Given the description of an element on the screen output the (x, y) to click on. 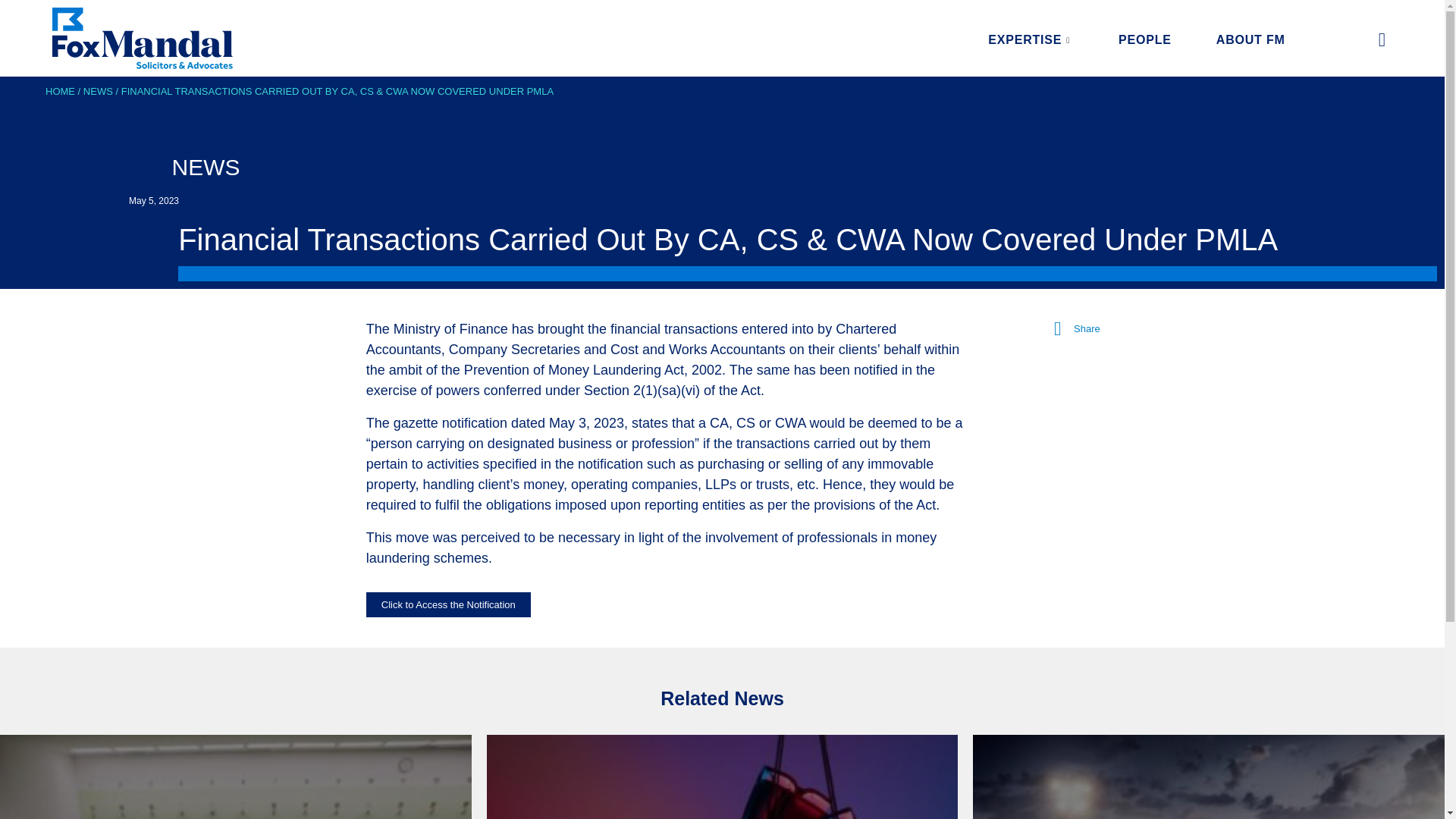
EXPERTISE (1042, 38)
